Given the description of an element on the screen output the (x, y) to click on. 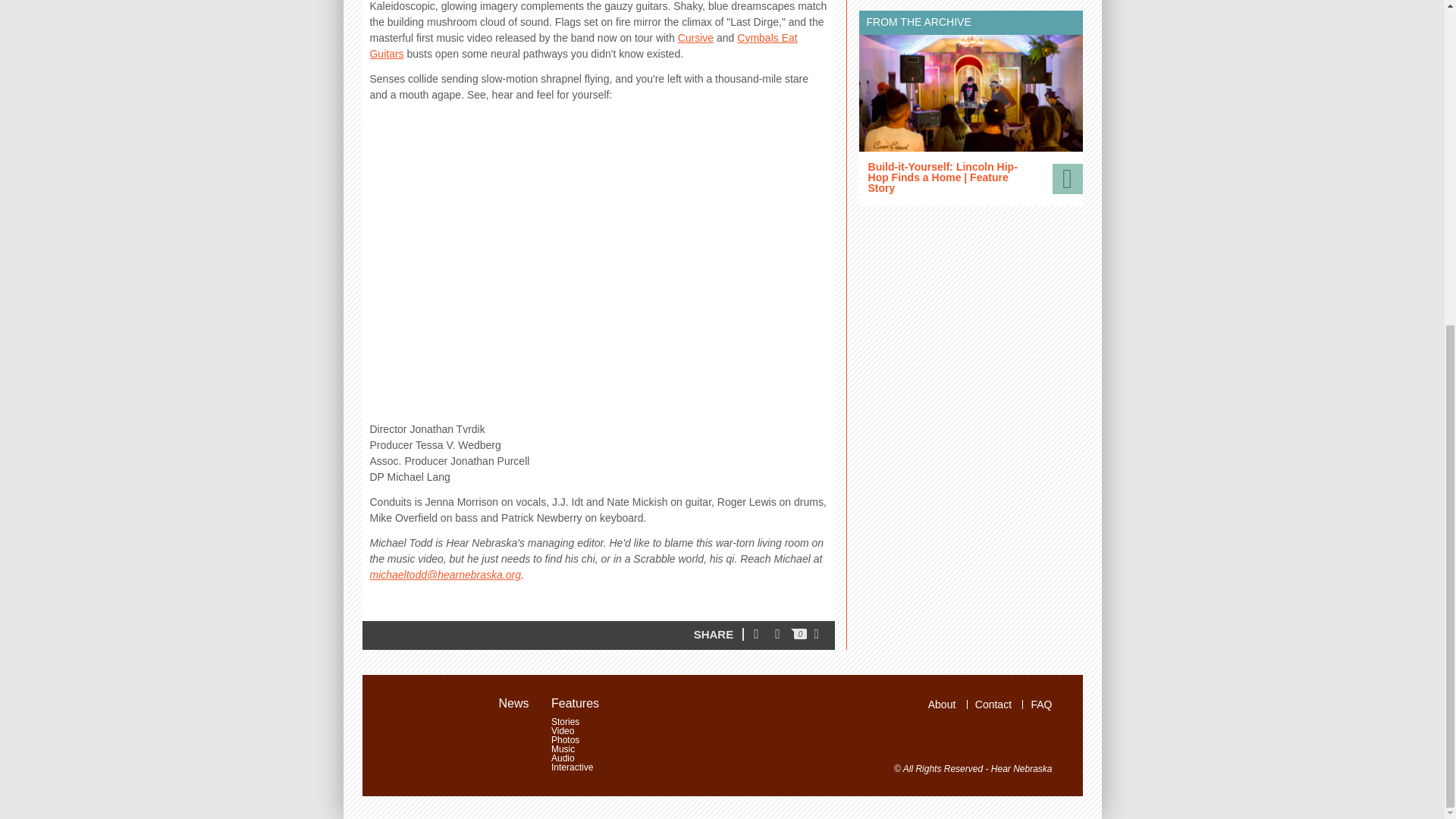
Video (571, 730)
Photos (571, 739)
Share with Facebook (790, 635)
News (518, 703)
Twitter (760, 635)
About (942, 704)
Share with Twitter (760, 635)
Facebook 0 (790, 635)
Share with Google Plus (820, 635)
Cursive (695, 37)
